Given the description of an element on the screen output the (x, y) to click on. 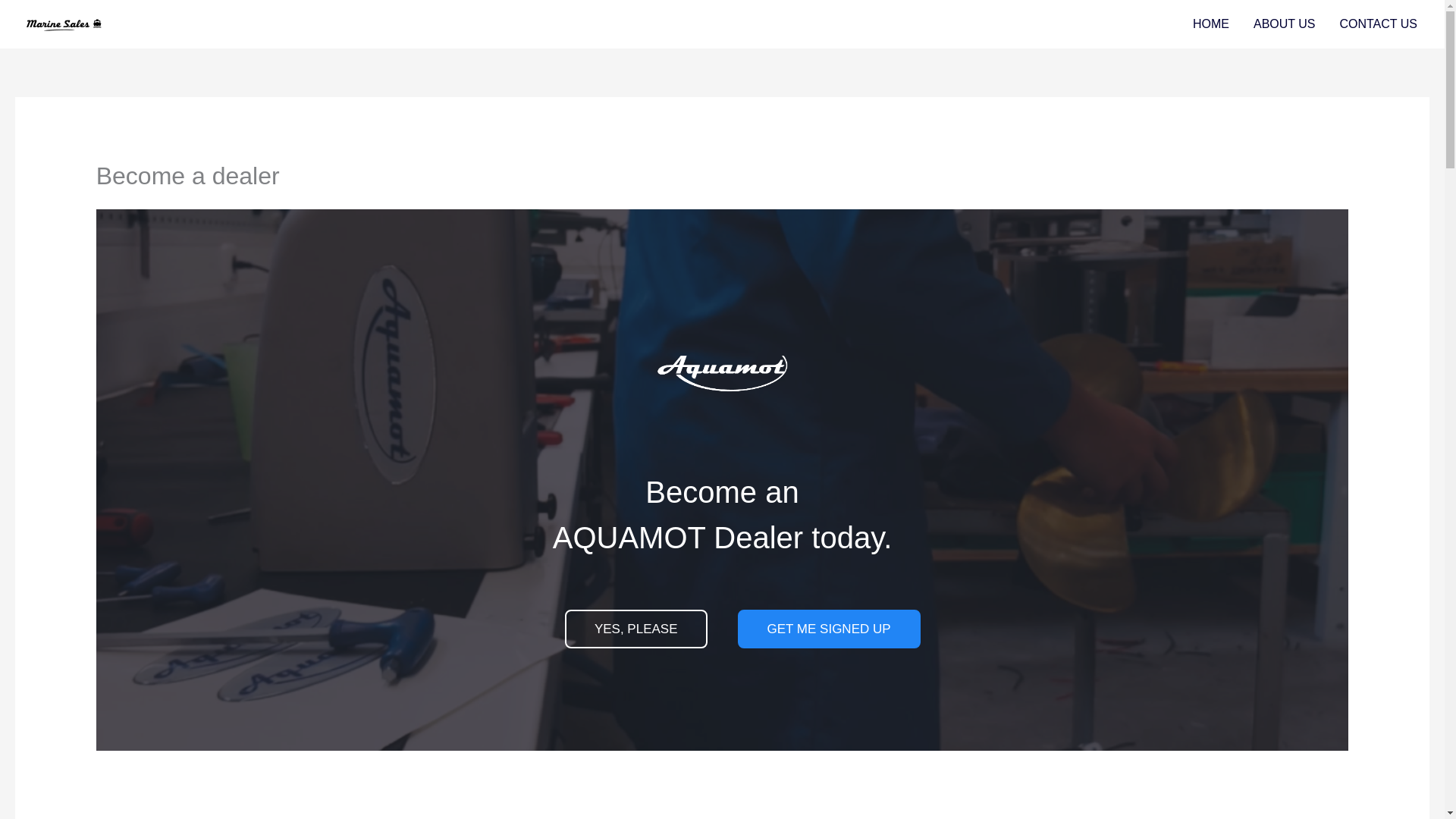
HOME (1210, 24)
GET ME SIGNED UP (828, 628)
ABOUT US (1284, 24)
CONTACT US (1377, 24)
YES, PLEASE (635, 628)
